Given the description of an element on the screen output the (x, y) to click on. 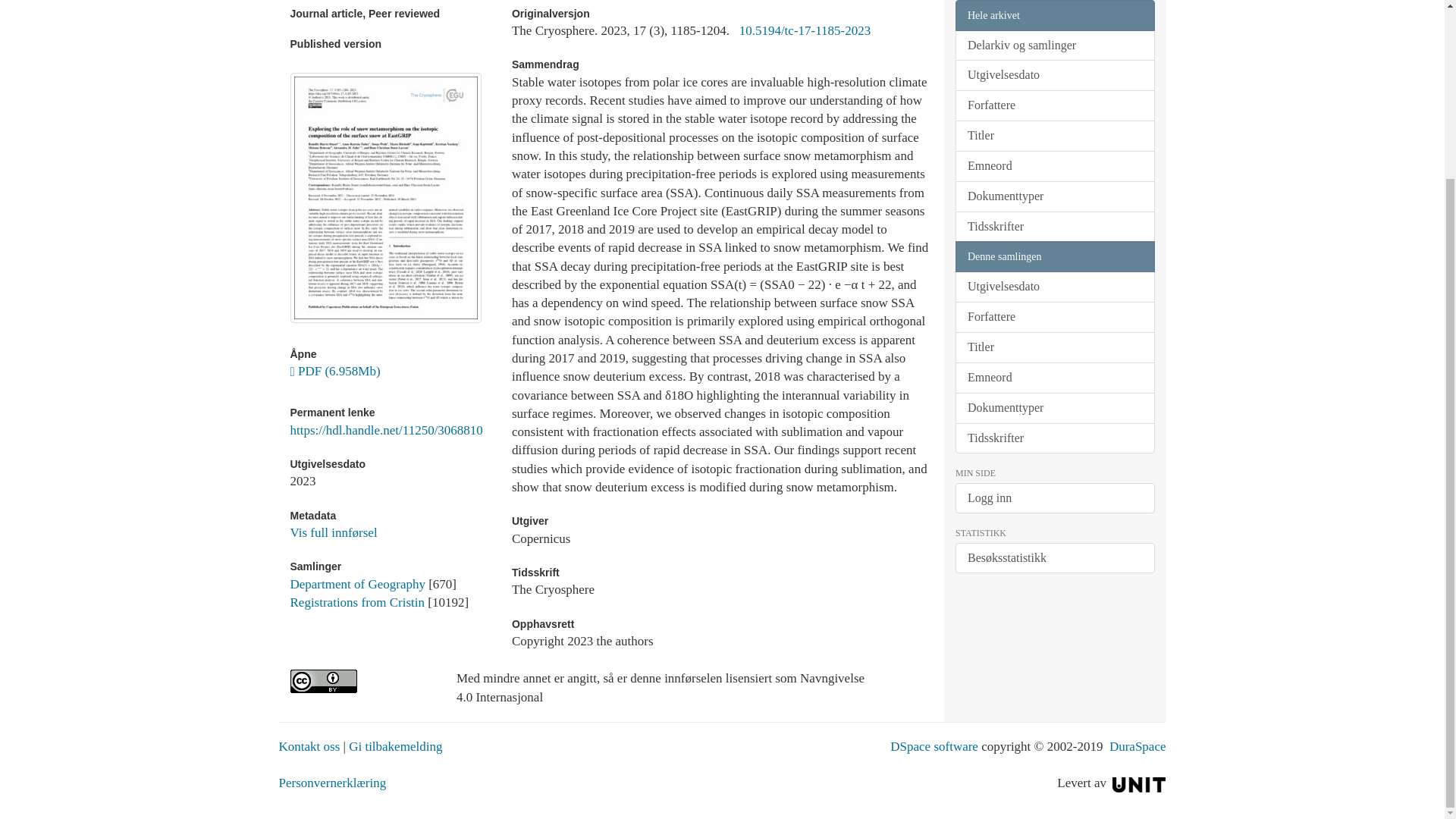
Registrations from Cristin (357, 602)
Department of Geography (357, 584)
Unit (1139, 782)
Navngivelse 4.0 Internasjonal (360, 680)
